Given the description of an element on the screen output the (x, y) to click on. 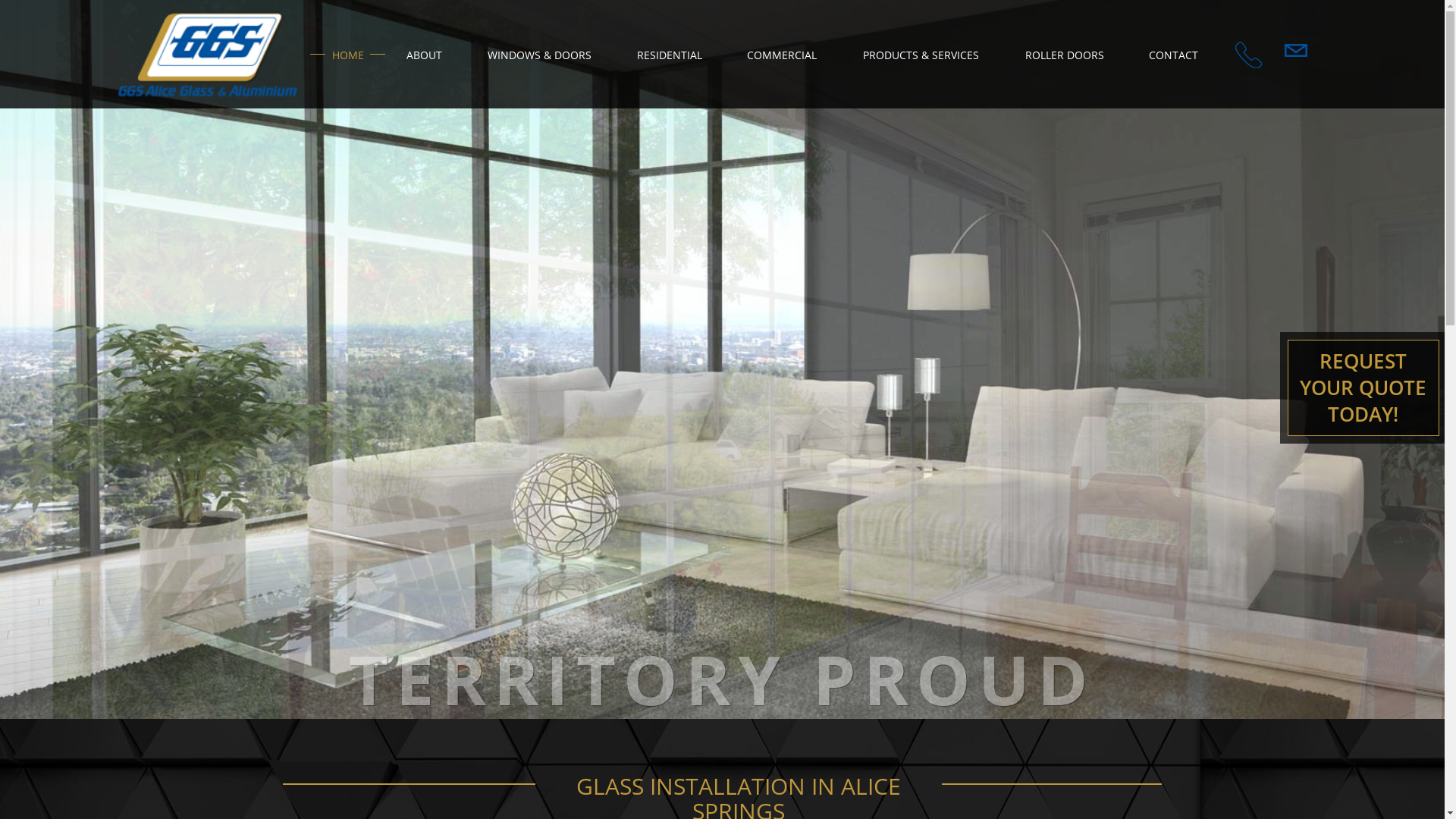
ABOUT Element type: text (424, 53)
RESIDENTIAL Element type: text (669, 53)
REQUEST YOUR QUOTE TODAY! Element type: text (1363, 387)
ROLLER DOORS Element type: text (1064, 53)
COMMERCIAL Element type: text (781, 53)
REQUEST YOUR QUOTE TODAY! Element type: text (1363, 364)
GGS Alice Glass & Aluminium Element type: hover (207, 55)
WINDOWS & DOORS Element type: text (539, 53)
HOME Element type: text (347, 53)
CONTACT Element type: text (1173, 53)
PRODUCTS & SERVICES Element type: text (920, 53)
